Given the description of an element on the screen output the (x, y) to click on. 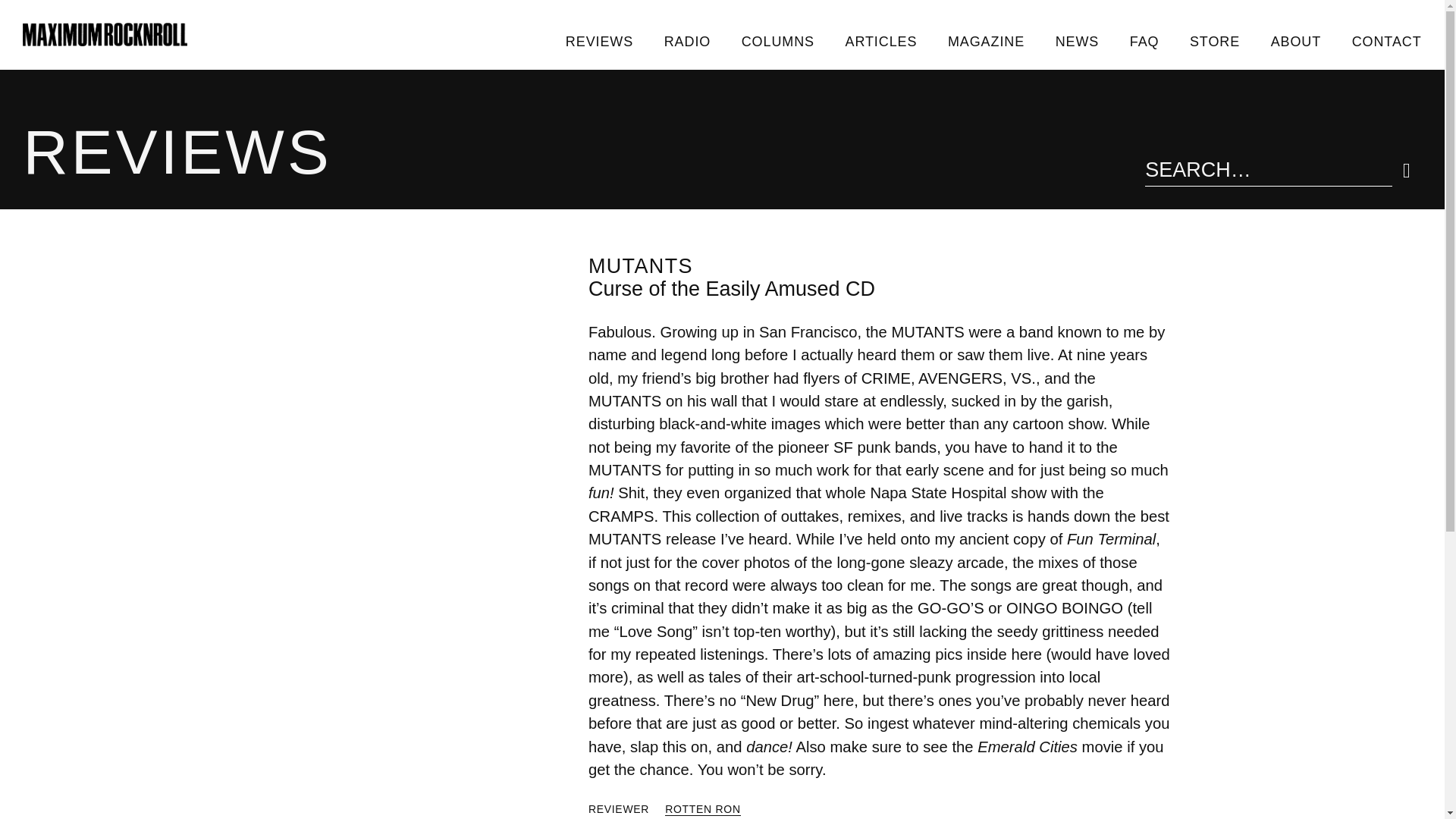
ARTICLES (880, 41)
CONTACT (1385, 41)
REVIEWS (599, 41)
MAGAZINE (987, 41)
ABOUT (1295, 41)
STORE (1214, 41)
NEWS (1076, 41)
ROTTEN RON (703, 809)
FAQ (1143, 41)
MUTANTS (640, 265)
